Given the description of an element on the screen output the (x, y) to click on. 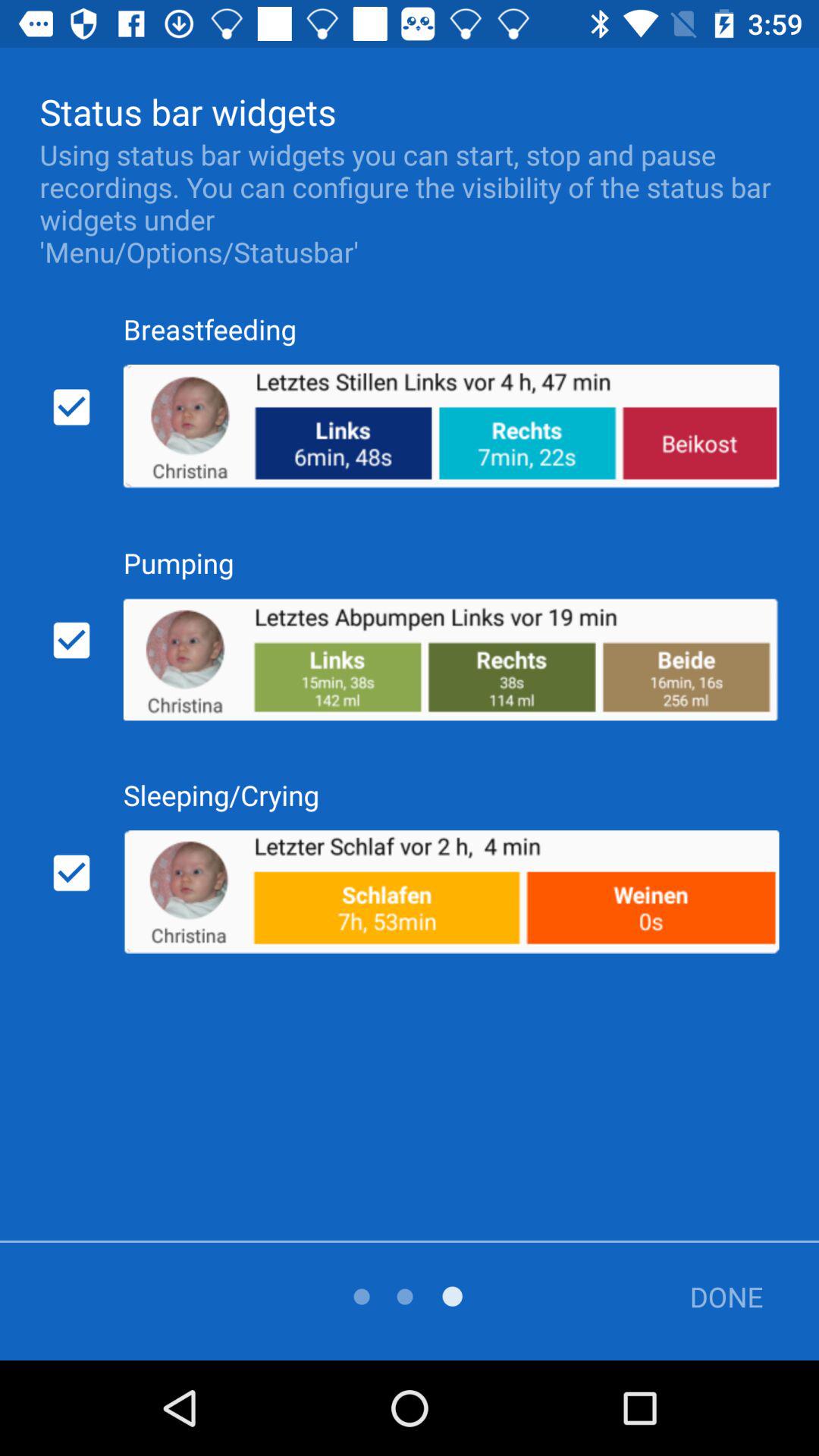
toggle pumping status bar widget (71, 640)
